Given the description of an element on the screen output the (x, y) to click on. 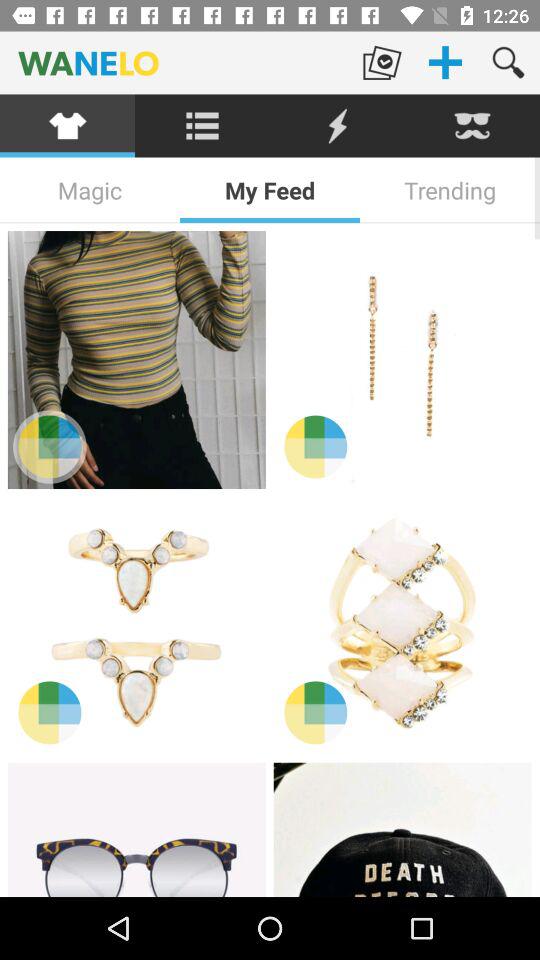
view photo (402, 829)
